Given the description of an element on the screen output the (x, y) to click on. 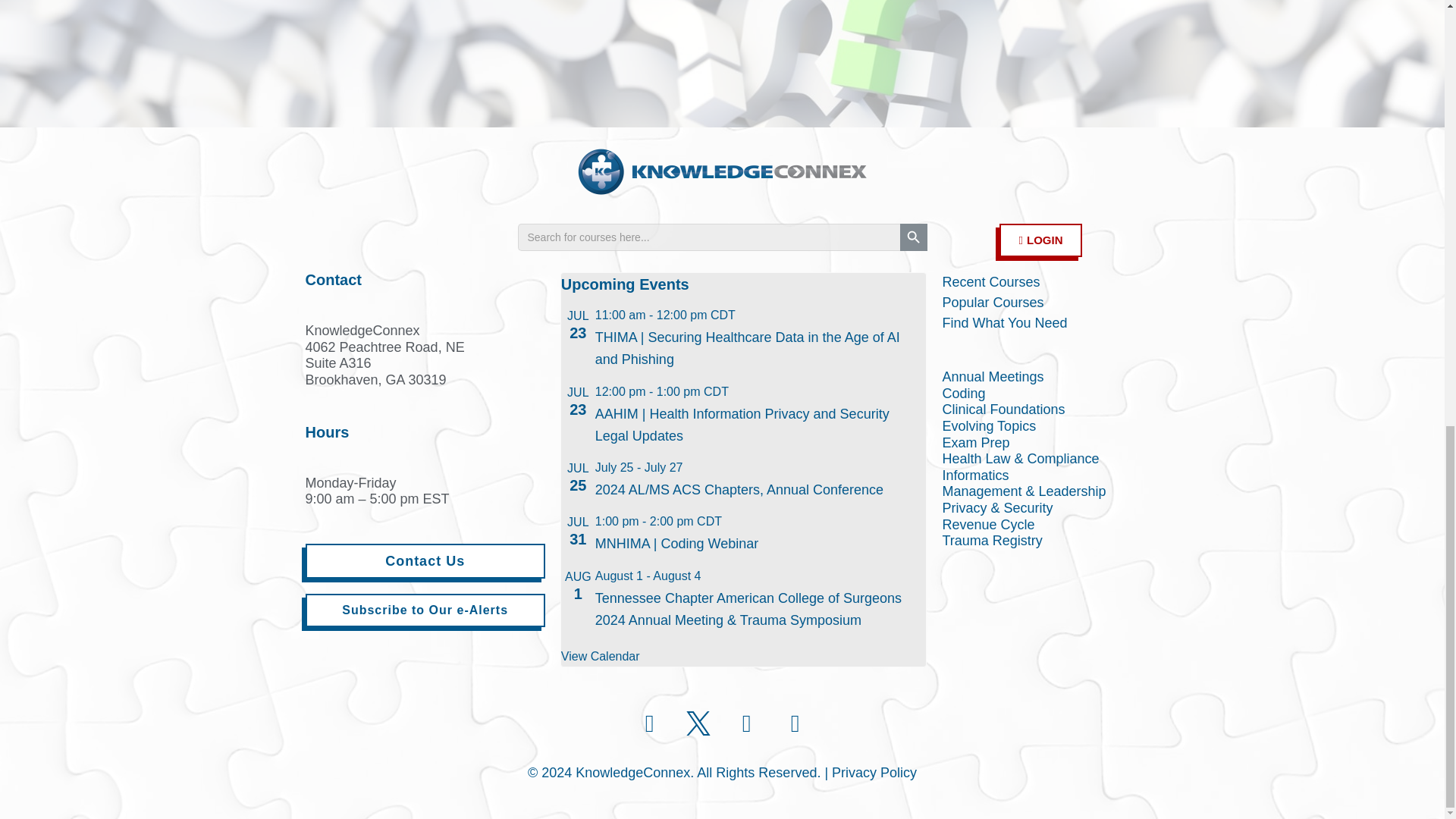
View more events. (600, 656)
KC-logo-2020 (721, 171)
